Given the description of an element on the screen output the (x, y) to click on. 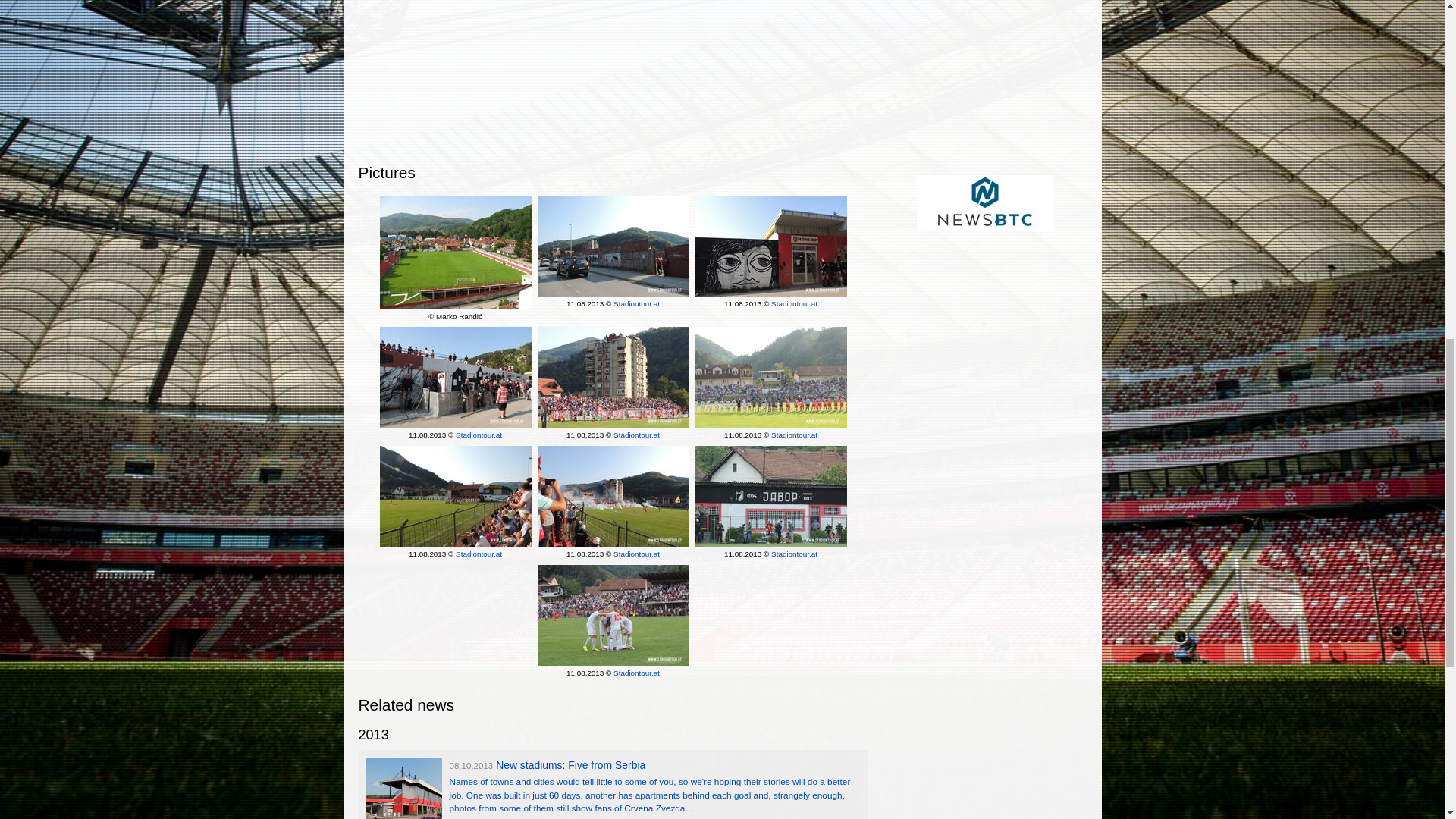
Stadion kraj Moravice: 500x750px, 51 kB (769, 245)
Advertisement (612, 70)
Stadion kraj Moravice: 500x750px, 72 kB (769, 376)
Stadion kraj Moravice: 500x750px, 68 kB (454, 496)
Stadion kraj Moravice: 500x750px, 63 kB (612, 496)
Stadion kraj Moravice: 500x750px, 85 kB (769, 496)
Stadiontour.at (635, 303)
Stadion kraj Moravice: 500x750px, 70 kB (454, 376)
Stadion kraj Moravice: 500x750px, 43 kB (612, 245)
Stadion kraj Moravice: 500x750px, 85 kB (612, 376)
Stadion kraj Moravice: 500x750px, 85 kB (612, 615)
Stadiontour.at (793, 303)
Stadion kraj Moravice: 450x600px, 53 kB (454, 252)
Advertisement (984, 81)
